Given the description of an element on the screen output the (x, y) to click on. 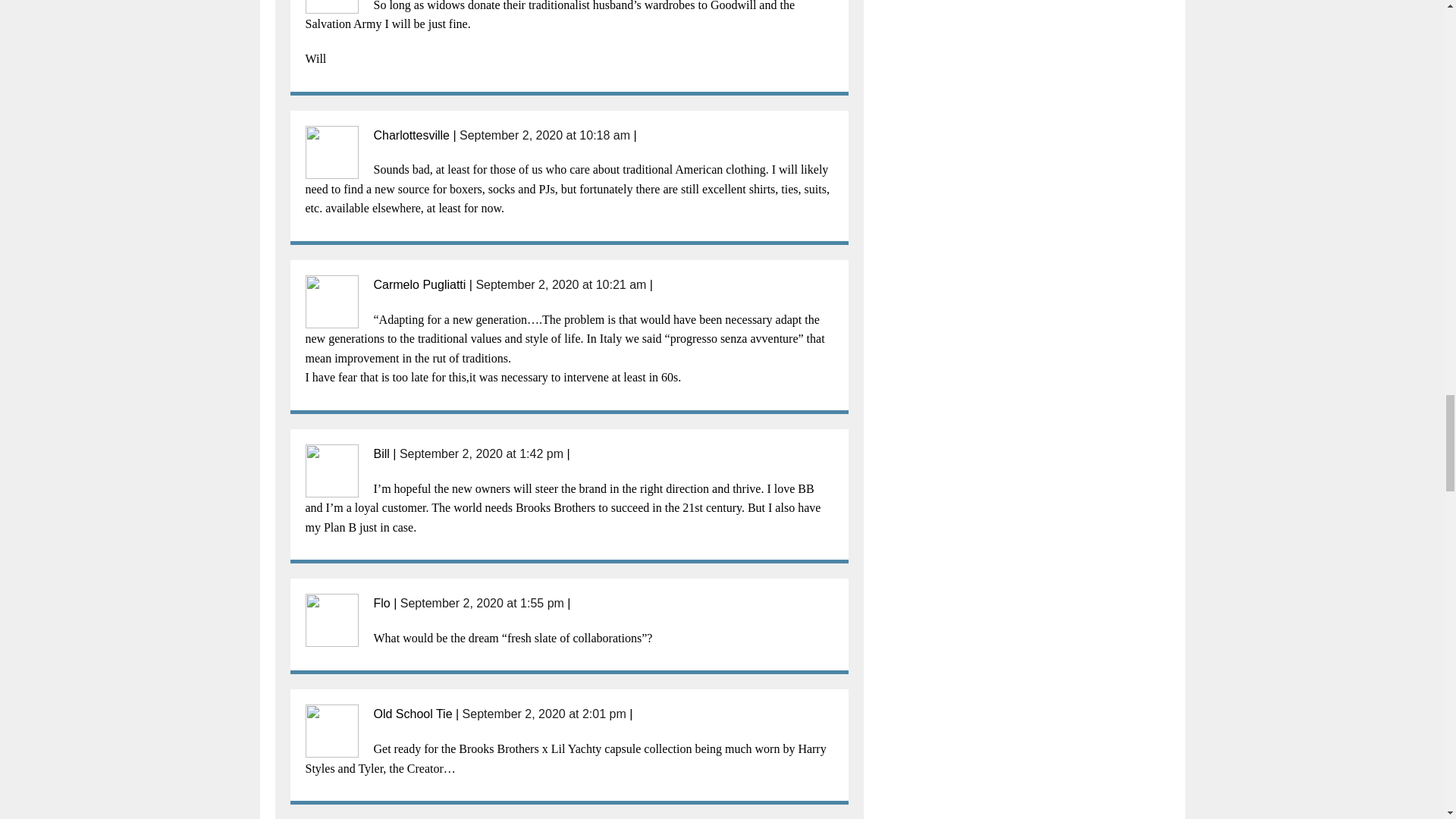
September 2, 2020 at 10:18 am (545, 134)
September 2, 2020 at 10:21 am (561, 284)
September 2, 2020 at 2:01 pm (544, 713)
September 2, 2020 at 1:55 pm (482, 603)
September 2, 2020 at 1:42 pm (480, 453)
